Given the description of an element on the screen output the (x, y) to click on. 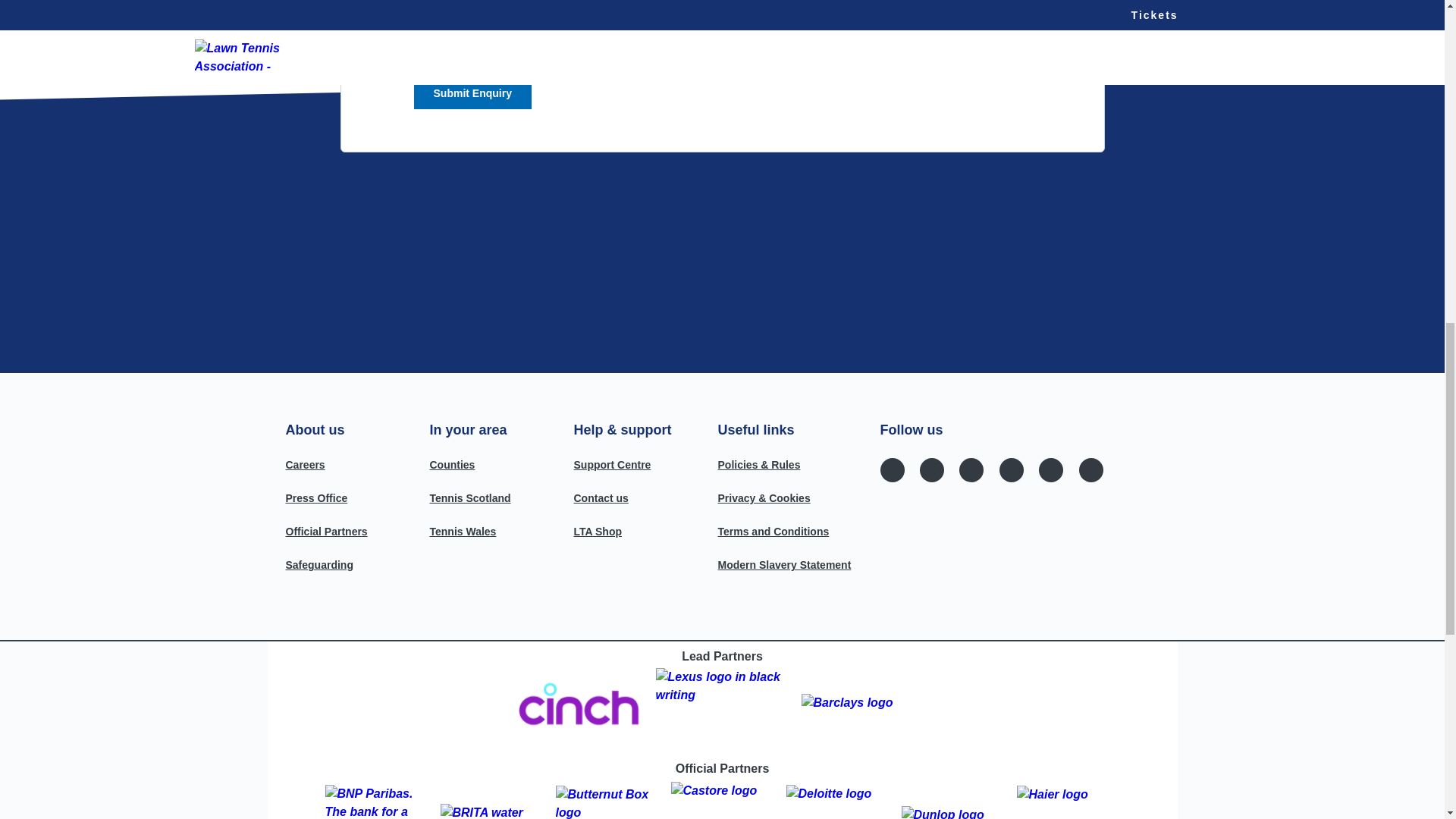
Facebook (891, 469)
Lexus logo in black writing (721, 705)
Instagram (931, 469)
BRITA (490, 800)
LinkedIn (1090, 469)
TikTok (1050, 469)
BNP Paribas (375, 800)
Butternut Box (605, 800)
LinkedIn (1090, 469)
TikTok (1050, 469)
